Given the description of an element on the screen output the (x, y) to click on. 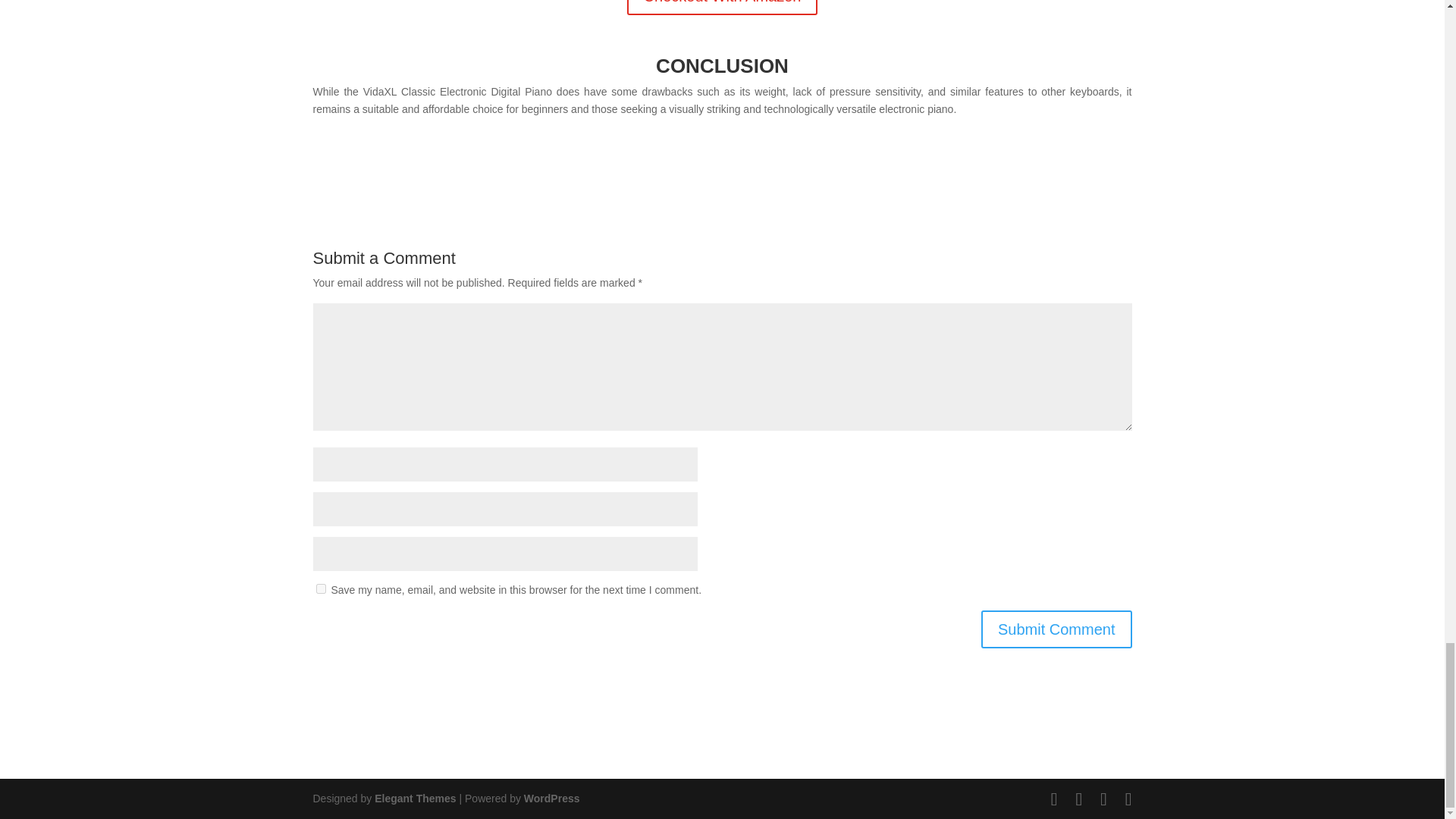
Submit Comment (1056, 629)
Premium WordPress Themes (414, 798)
Checkout With Amazon (722, 7)
yes (319, 588)
Submit Comment (1056, 629)
